Given the description of an element on the screen output the (x, y) to click on. 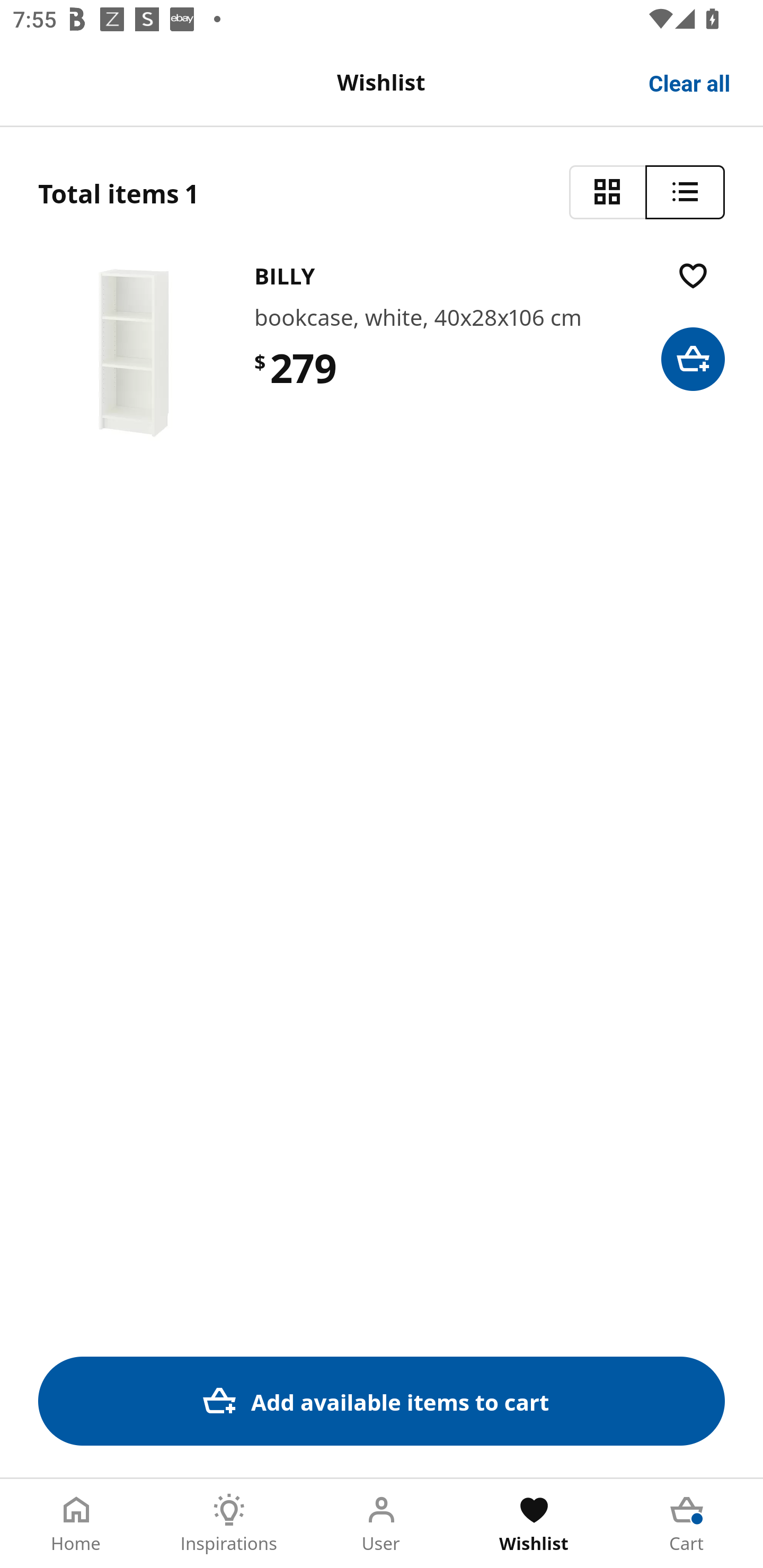
Clear all (689, 81)
​B​I​L​L​Y​
bookcase, white, 40x28x106 cm
$
279 (381, 352)
Add available items to cart (381, 1400)
Home
Tab 1 of 5 (76, 1522)
Inspirations
Tab 2 of 5 (228, 1522)
User
Tab 3 of 5 (381, 1522)
Wishlist
Tab 4 of 5 (533, 1522)
Cart
Tab 5 of 5 (686, 1522)
